Given the description of an element on the screen output the (x, y) to click on. 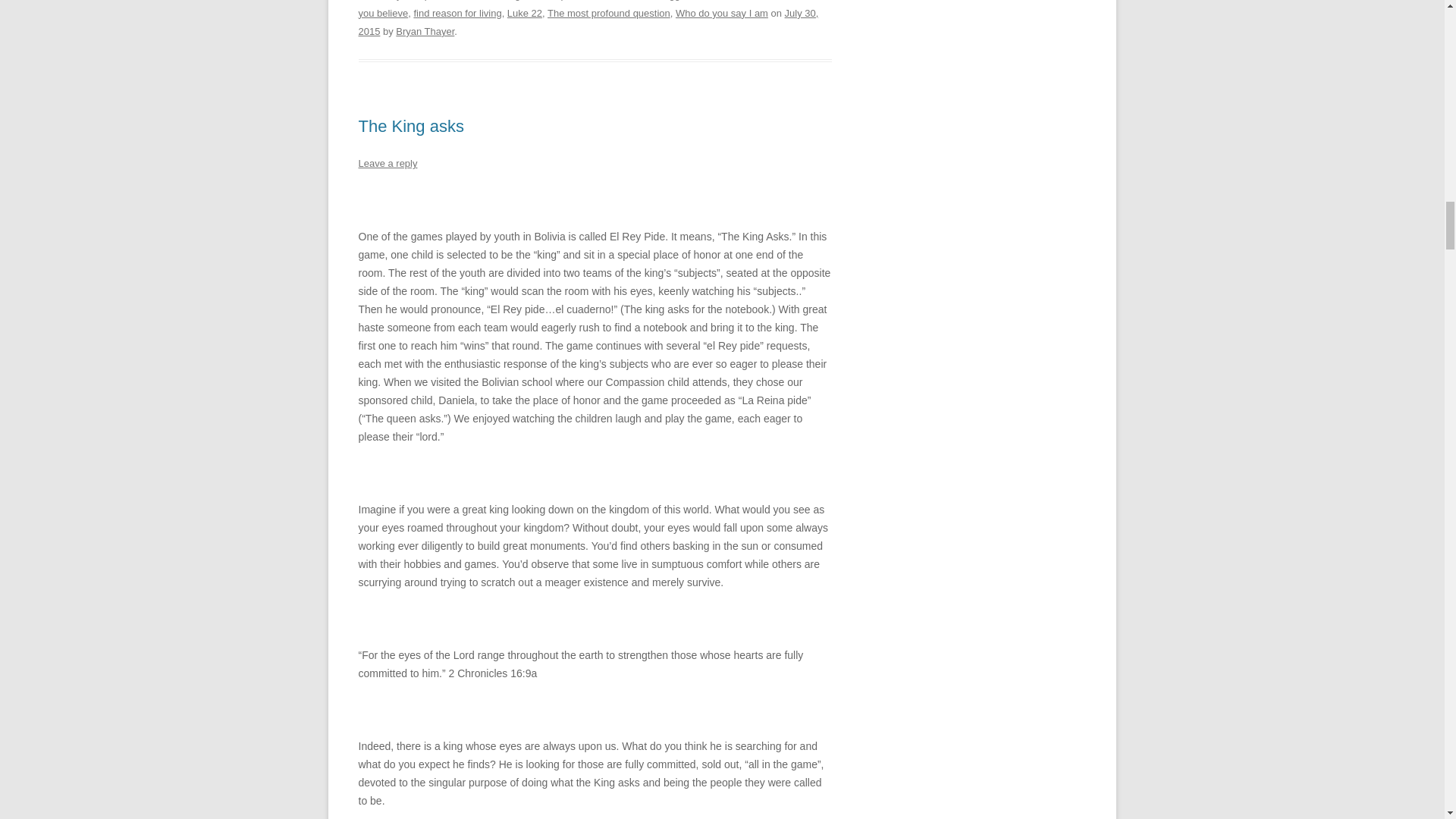
find reason for living (456, 12)
The most profound question (608, 12)
View all posts by Bryan Thayer (425, 30)
Luke 22 (523, 12)
5:00 am (588, 21)
July 30, 2015 (588, 21)
Bryan Thayer (425, 30)
The King asks (410, 126)
do you believe (587, 9)
